Given the description of an element on the screen output the (x, y) to click on. 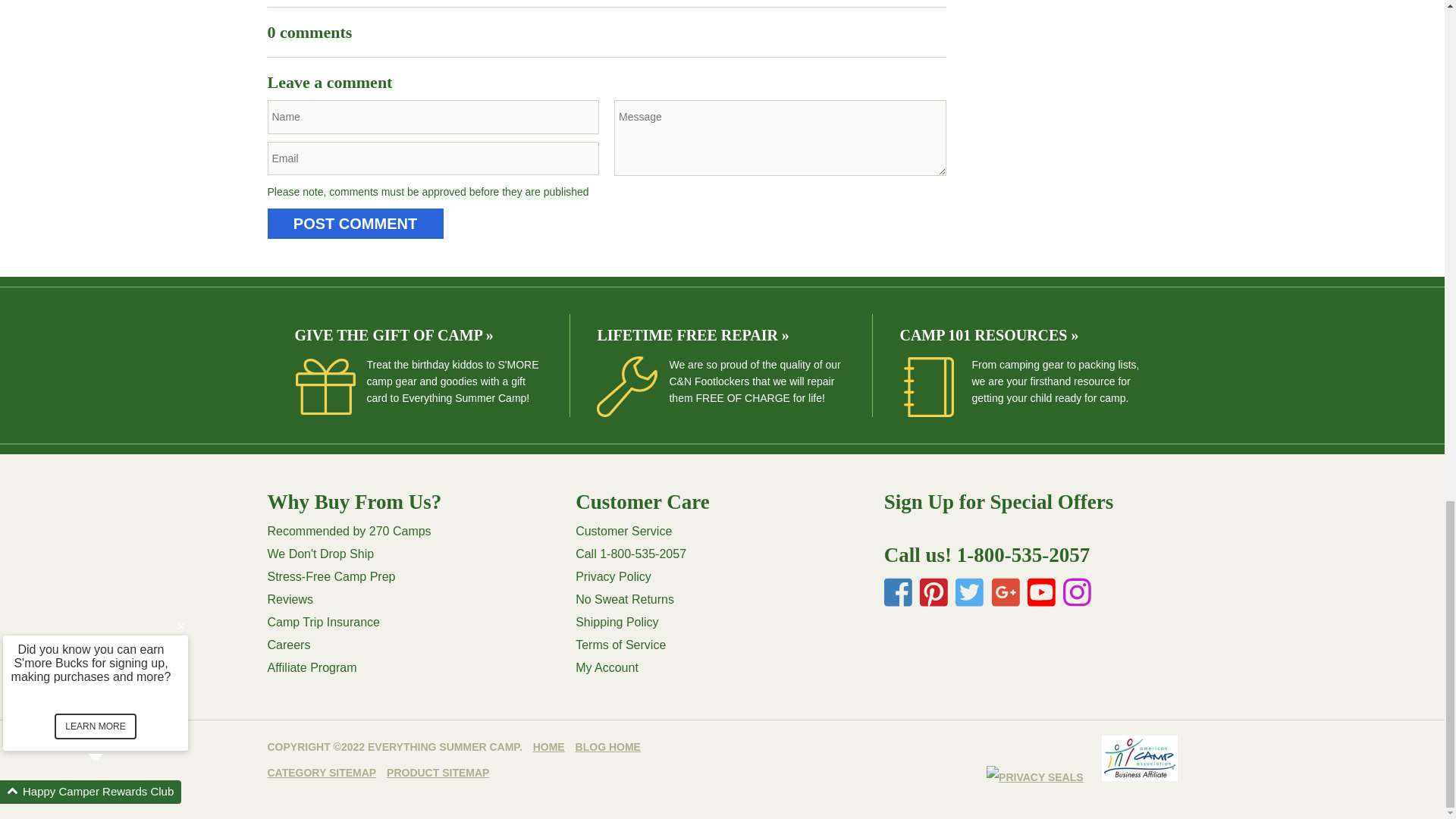
Post comment (354, 223)
